Given the description of an element on the screen output the (x, y) to click on. 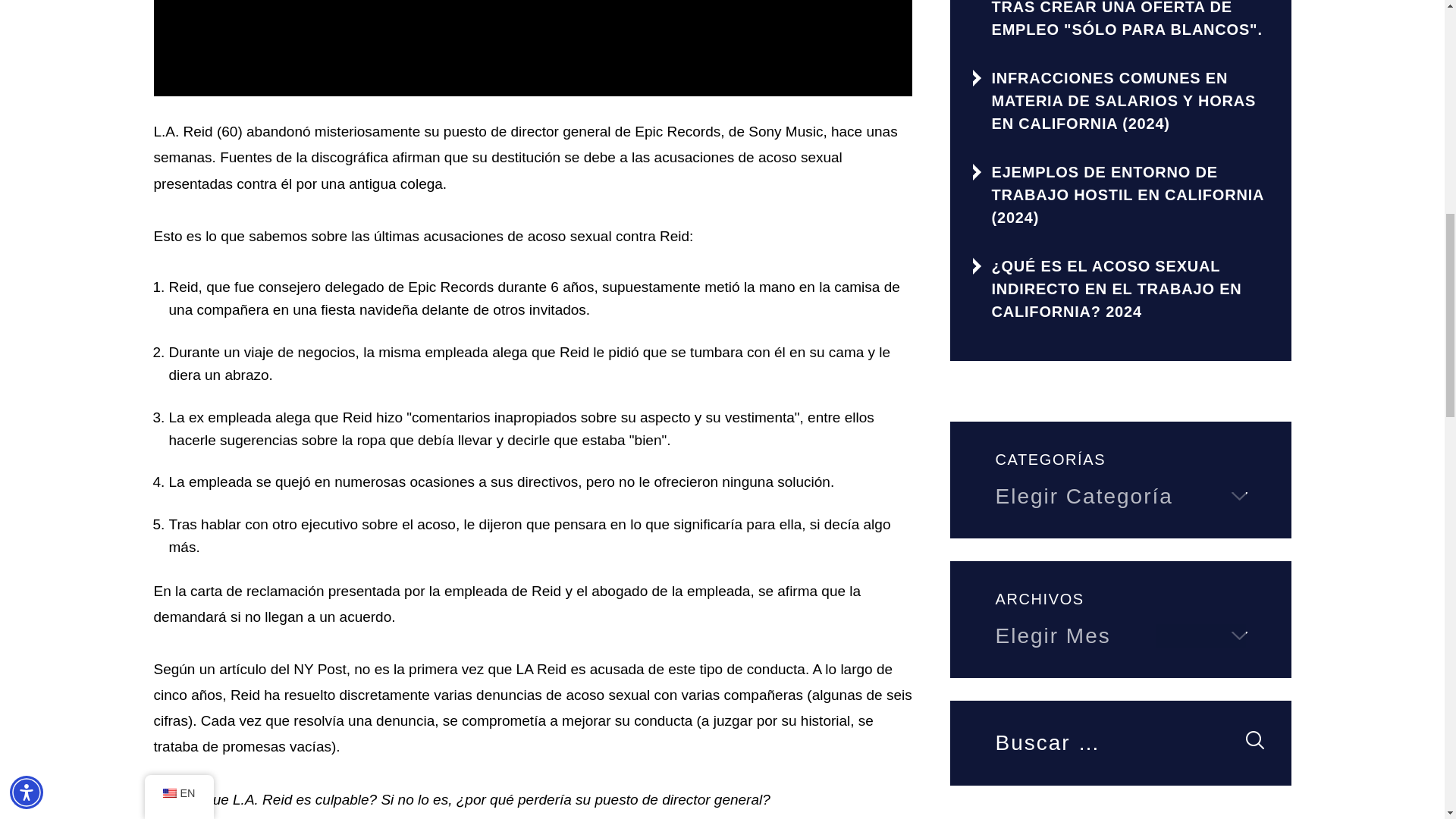
Buscar (1253, 740)
Buscar (1253, 740)
